Given the description of an element on the screen output the (x, y) to click on. 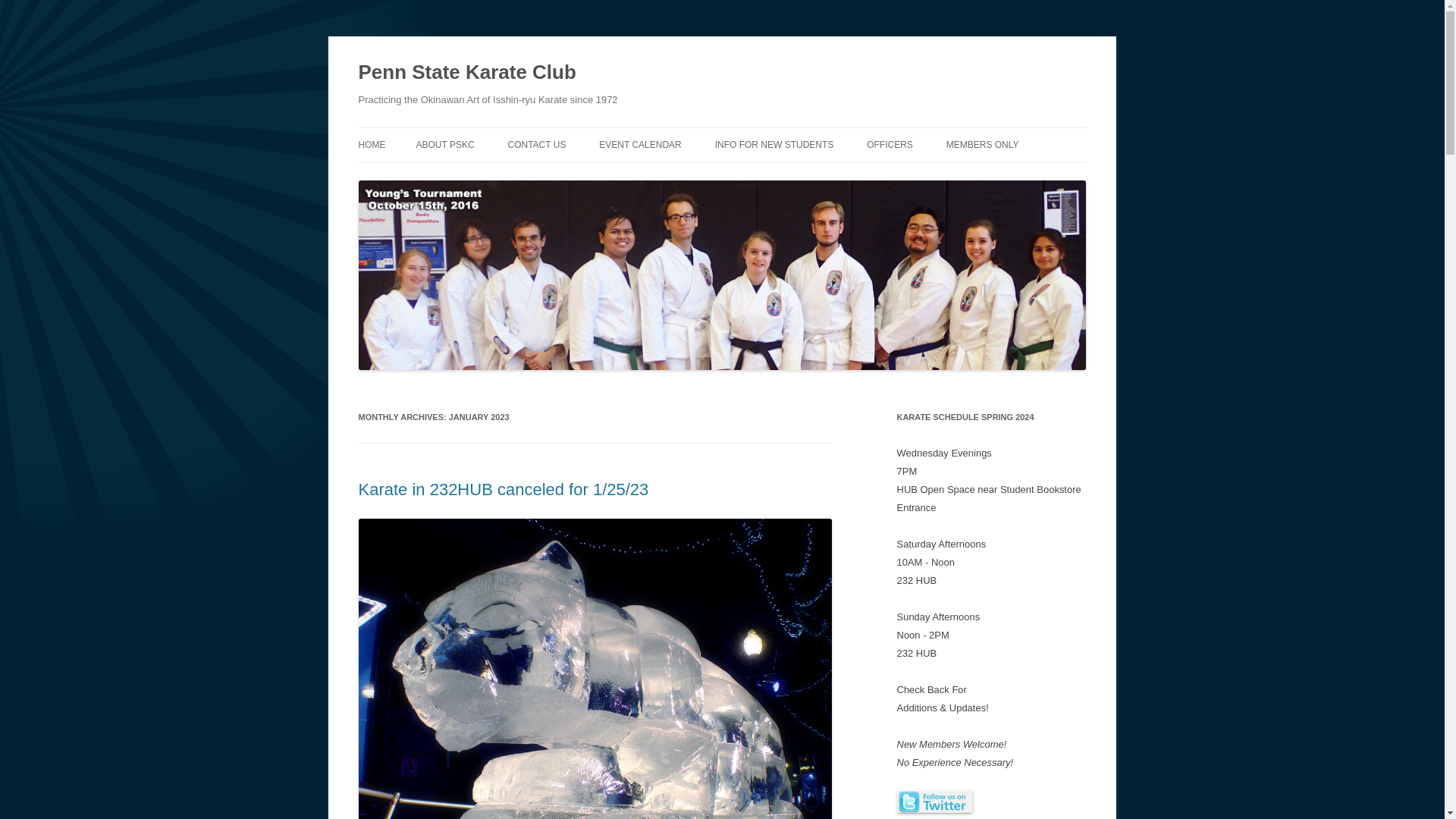
ABOUT PSKC (444, 144)
CONTACT US (537, 144)
MEMBERS ONLY (982, 144)
OFFICERS (889, 144)
INFO FOR NEW STUDENTS (774, 144)
EVENT CALENDAR (639, 144)
Penn State Karate Club (466, 72)
BLACK BELTS (1021, 176)
